Given the description of an element on the screen output the (x, y) to click on. 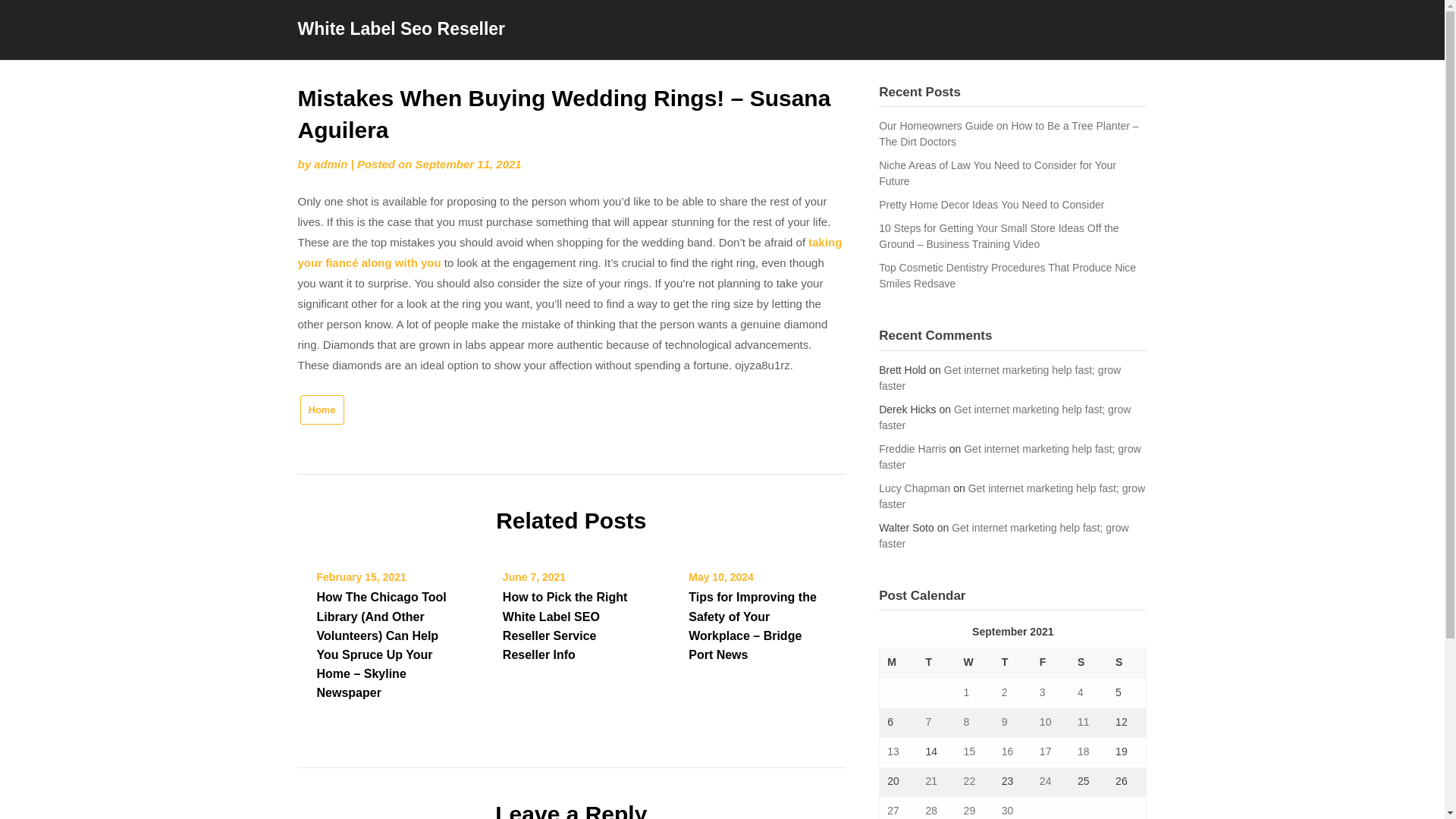
4 (1080, 692)
Tuesday (936, 663)
8 (966, 721)
22 (969, 780)
15 (969, 751)
Get internet marketing help fast; grow faster (1010, 456)
Thursday (1013, 663)
Wednesday (975, 663)
Monday (898, 663)
Home (321, 409)
Freddie Harris (912, 449)
3 (1042, 692)
September 11, 2021 (467, 164)
White Label Seo Reseller (401, 28)
